Given the description of an element on the screen output the (x, y) to click on. 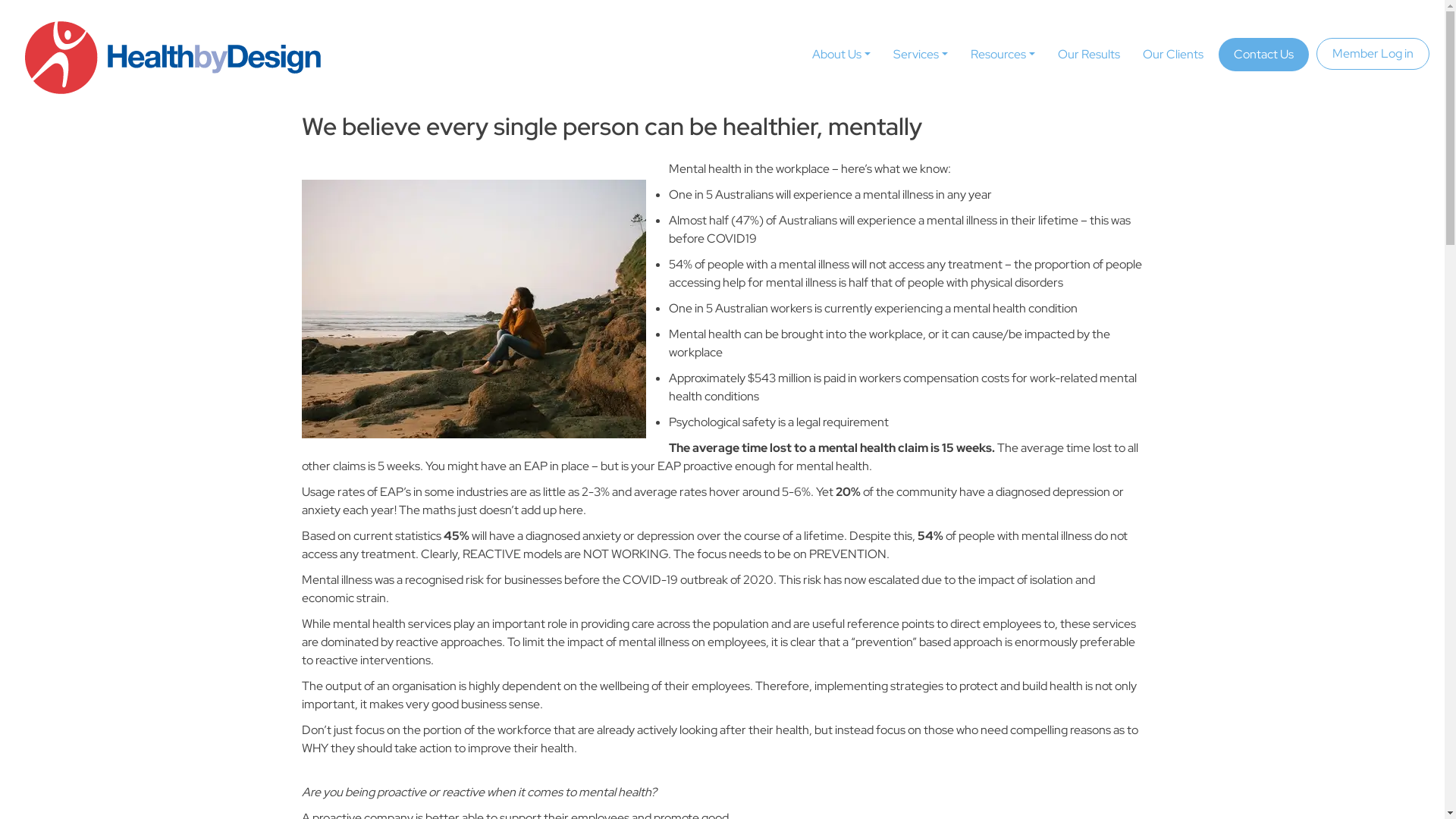
Our Clients Element type: text (1173, 54)
Contact Us Element type: text (1263, 54)
About Us Element type: text (841, 54)
Resources Element type: text (1002, 54)
Our Results Element type: text (1088, 54)
Member Log in Element type: text (1372, 53)
Services Element type: text (920, 54)
